Given the description of an element on the screen output the (x, y) to click on. 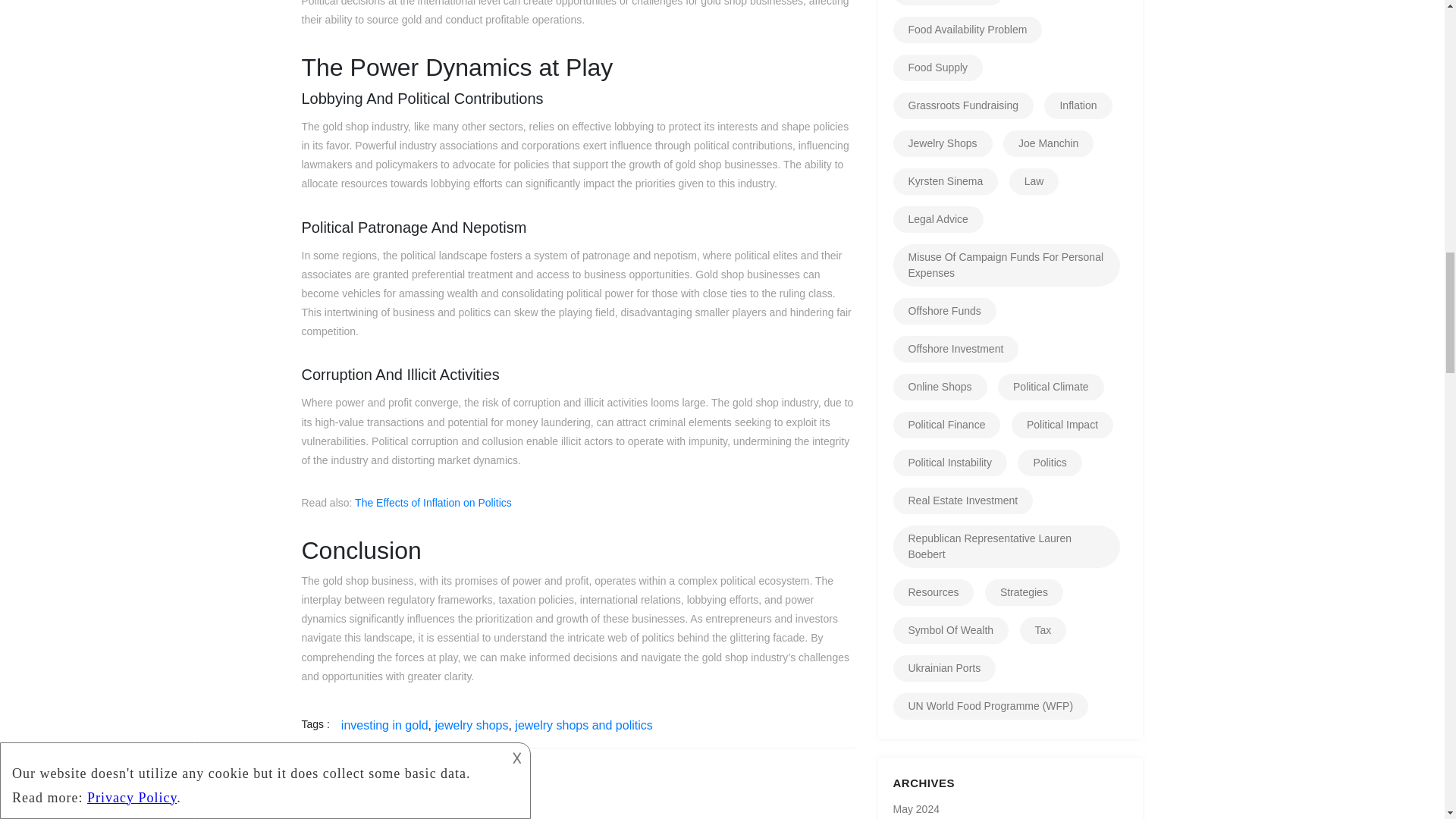
investing in gold (384, 725)
jewelry shops (471, 725)
The Effects of Inflation on Politics (433, 502)
jewelry shops and politics (583, 725)
